Given the description of an element on the screen output the (x, y) to click on. 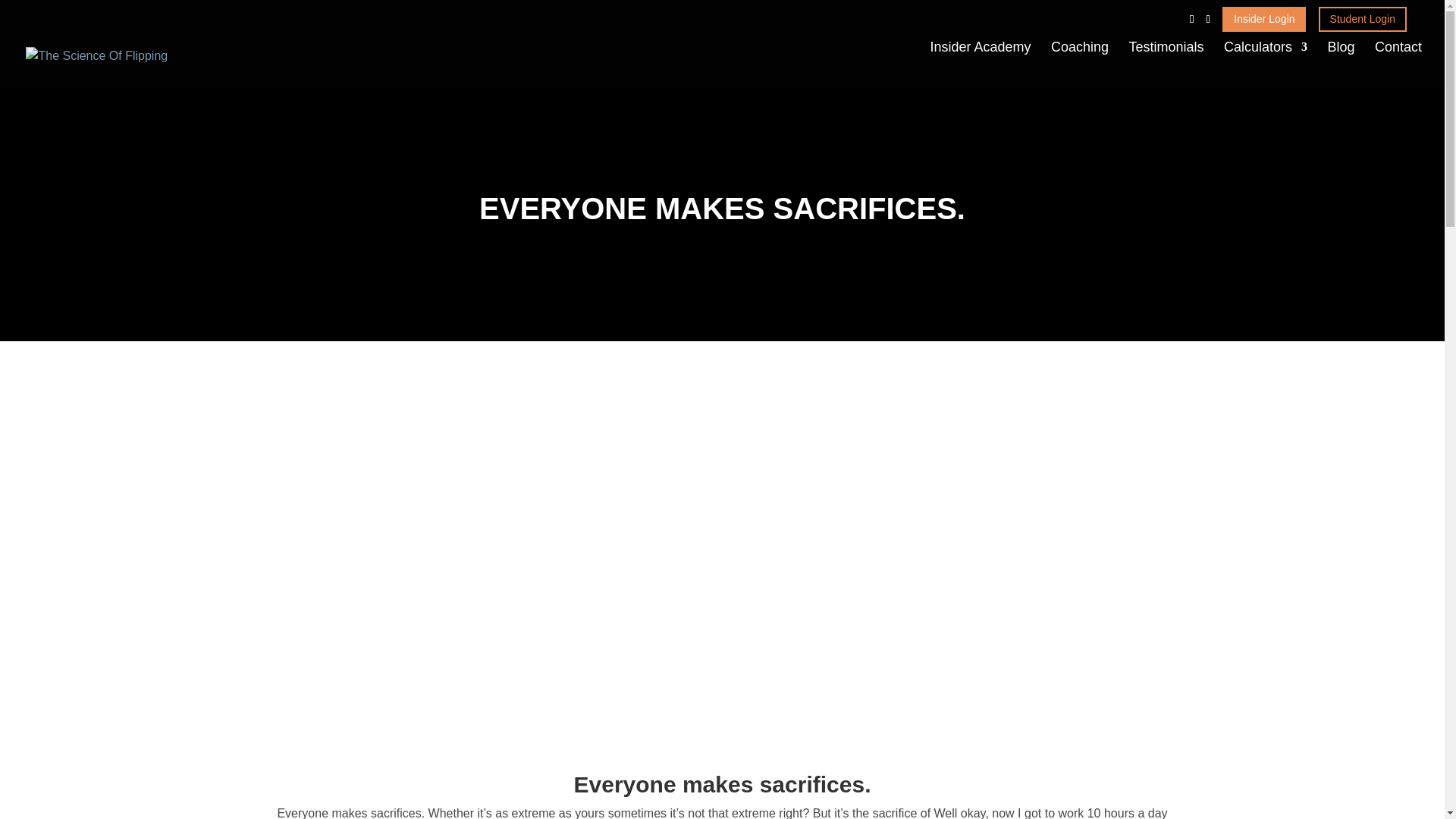
Coaching (1079, 64)
Insider Login (1264, 18)
Testimonials (1166, 64)
Insider Academy (980, 64)
Student Login (1362, 18)
Calculators (1265, 64)
Contact (1398, 64)
